Given the description of an element on the screen output the (x, y) to click on. 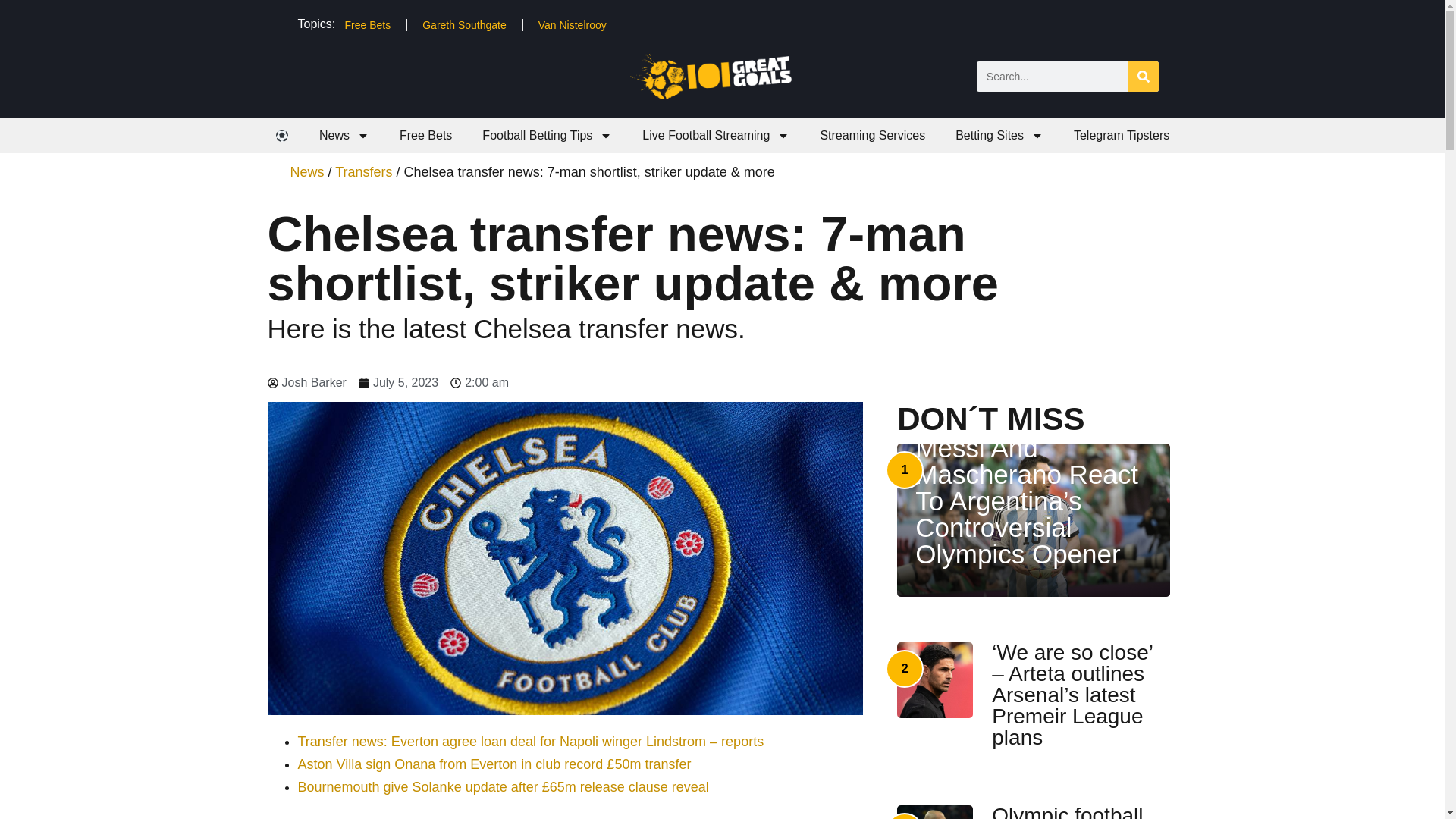
Van Nistelrooy (571, 24)
Betting Sites (999, 135)
News (344, 135)
Free Bets (425, 135)
Football Betting Tips (547, 135)
Free Bets (367, 24)
Streaming Services (872, 135)
Live Football Streaming (716, 135)
Gareth Southgate (464, 24)
